Given the description of an element on the screen output the (x, y) to click on. 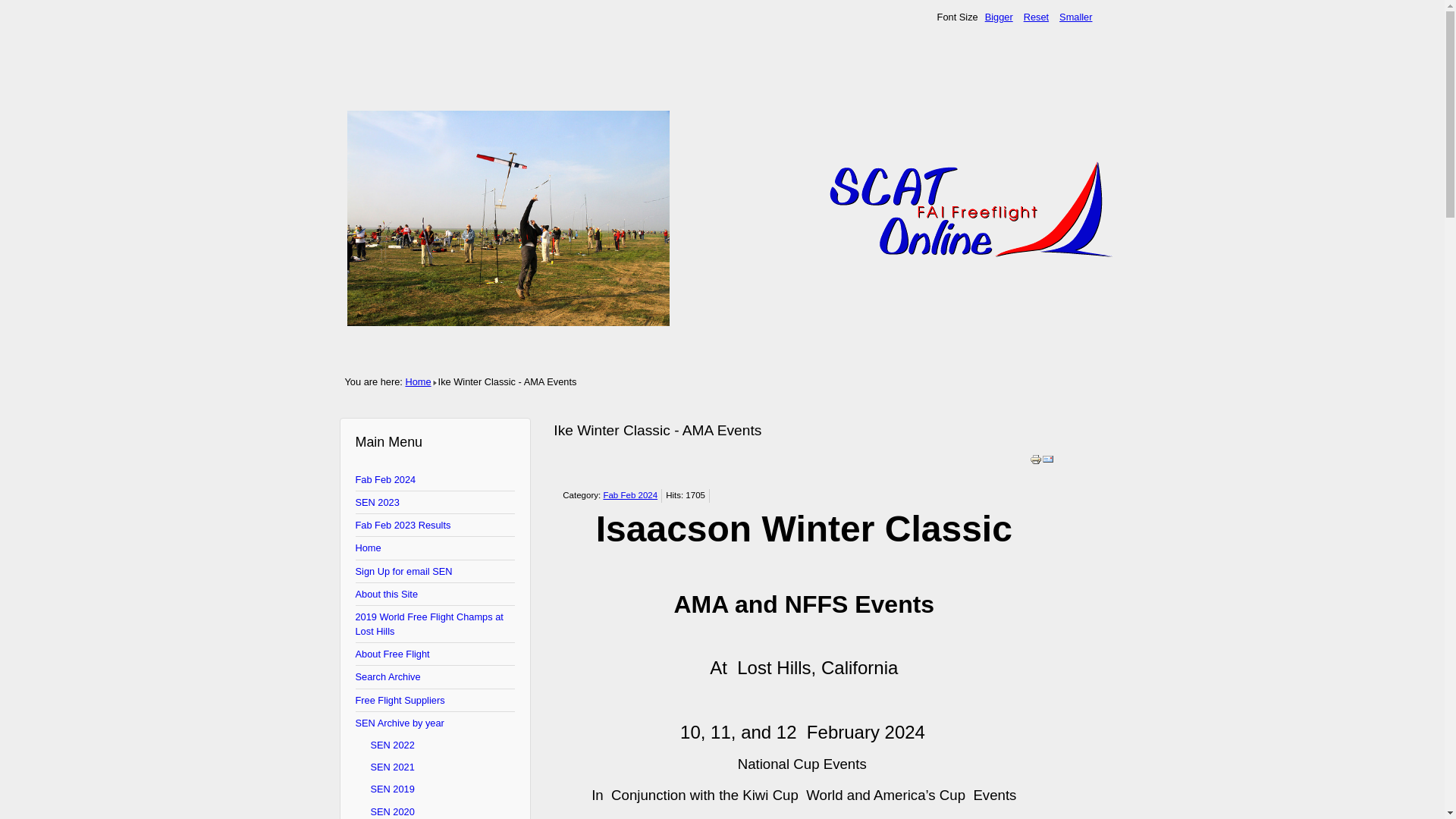
Fab Feb 2024 (435, 479)
2019 World Free Flight Champs at Lost Hills (435, 624)
Search Archive (435, 676)
About Free Flight (435, 653)
Email this link to a friend (1048, 461)
SEN 2020 (435, 809)
Bigger (998, 16)
About this Site (435, 594)
Revert styles to default (1036, 16)
SEN Archive by year (435, 722)
Decrease size (1075, 16)
Sign Up for email SEN (435, 571)
Fab Feb 2023 Results (435, 525)
SEN 2021 (435, 766)
SEN 2023 (435, 502)
